Given the description of an element on the screen output the (x, y) to click on. 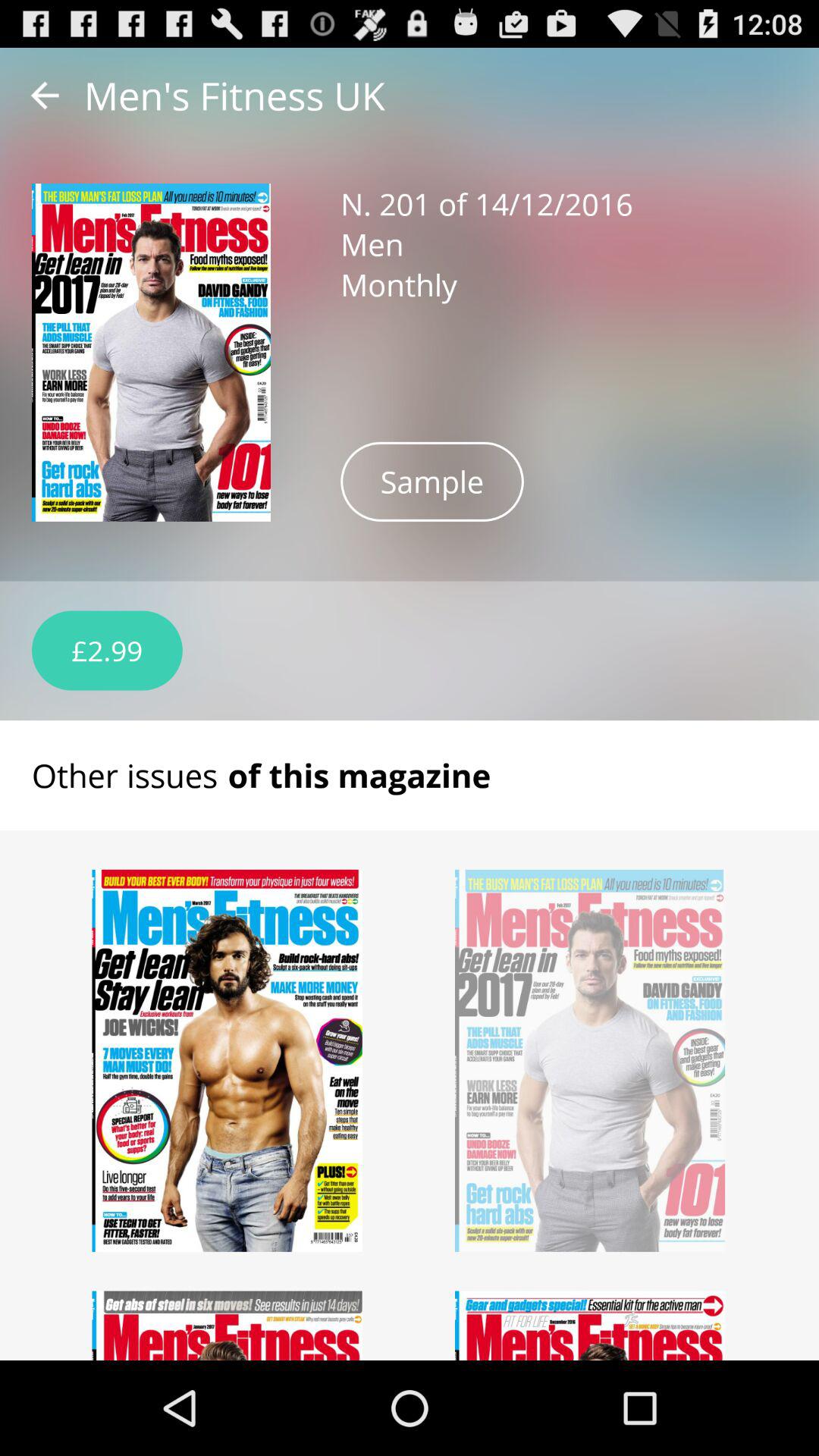
turn on item next to the men s fitness (44, 95)
